Given the description of an element on the screen output the (x, y) to click on. 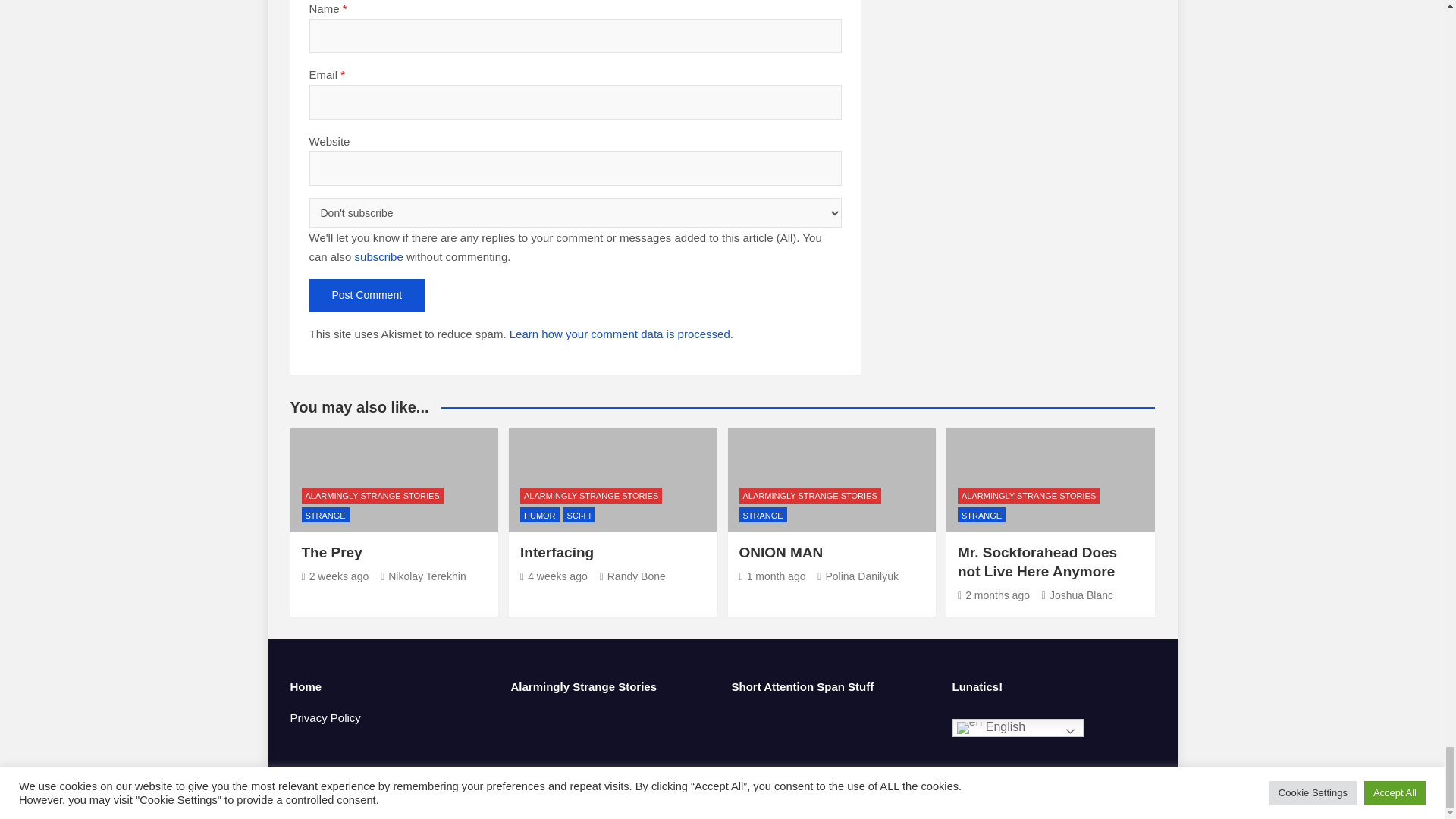
Post Comment (366, 295)
